Given the description of an element on the screen output the (x, y) to click on. 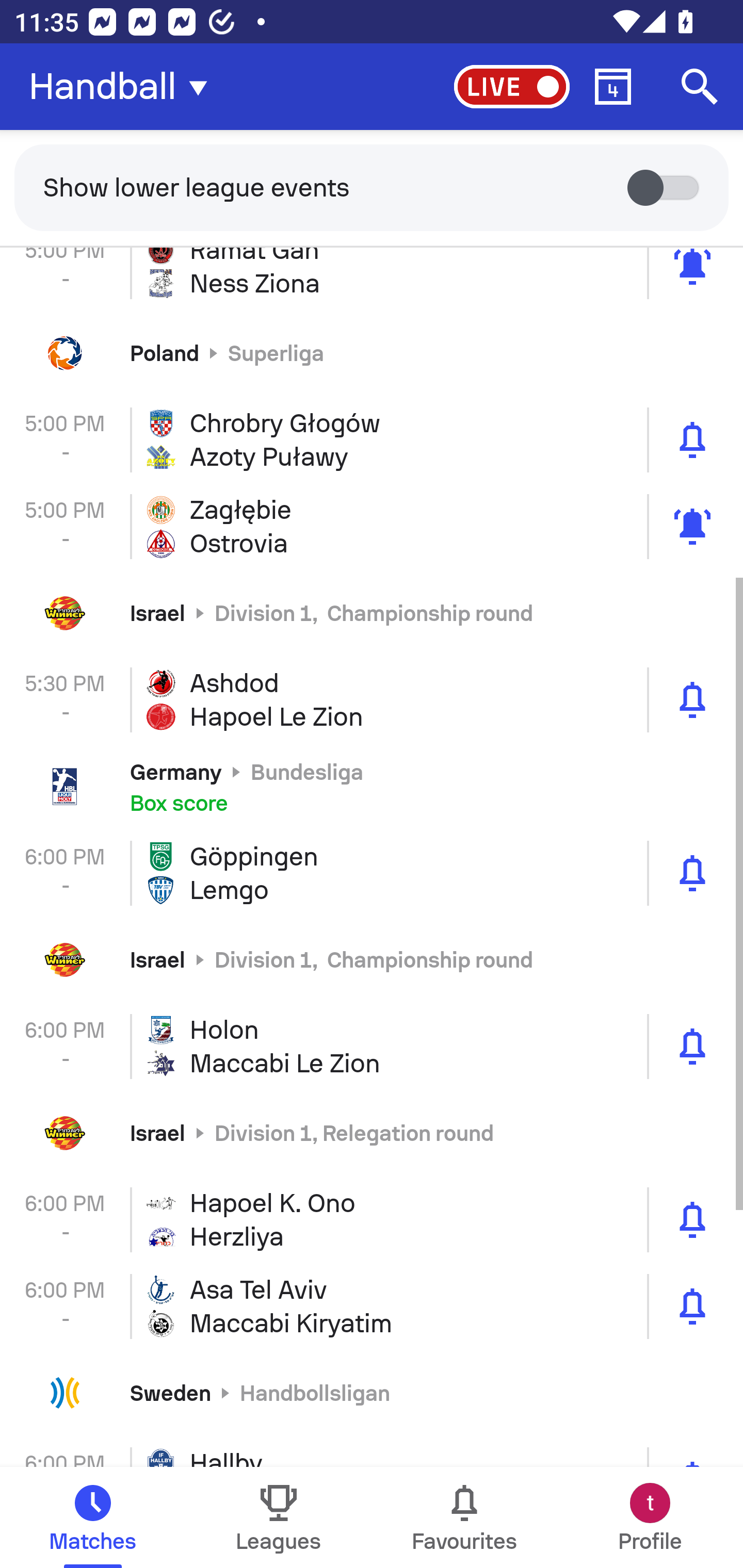
Handball (124, 86)
Calendar (612, 86)
Search (699, 86)
Show lower league events (371, 187)
Poland Superliga (371, 353)
5:00 PM - Chrobry Głogów Azoty Puławy (371, 439)
5:00 PM - Zagłębie Ostrovia (371, 525)
Israel Division 1,  Championship round (371, 612)
5:30 PM - Ashdod Hapoel Le Zion (371, 699)
Germany Bundesliga Box score (371, 786)
6:00 PM - Göppingen Lemgo (371, 873)
Israel Division 1,  Championship round (371, 960)
6:00 PM - Holon Maccabi Le Zion (371, 1046)
Israel Division 1, Relegation round (371, 1132)
6:00 PM - Hapoel K. Ono Herzliya (371, 1219)
6:00 PM - Asa Tel Aviv Maccabi Kiryatim (371, 1306)
Sweden Handbollsligan (371, 1393)
Leagues (278, 1517)
Favourites (464, 1517)
Profile (650, 1517)
